Given the description of an element on the screen output the (x, y) to click on. 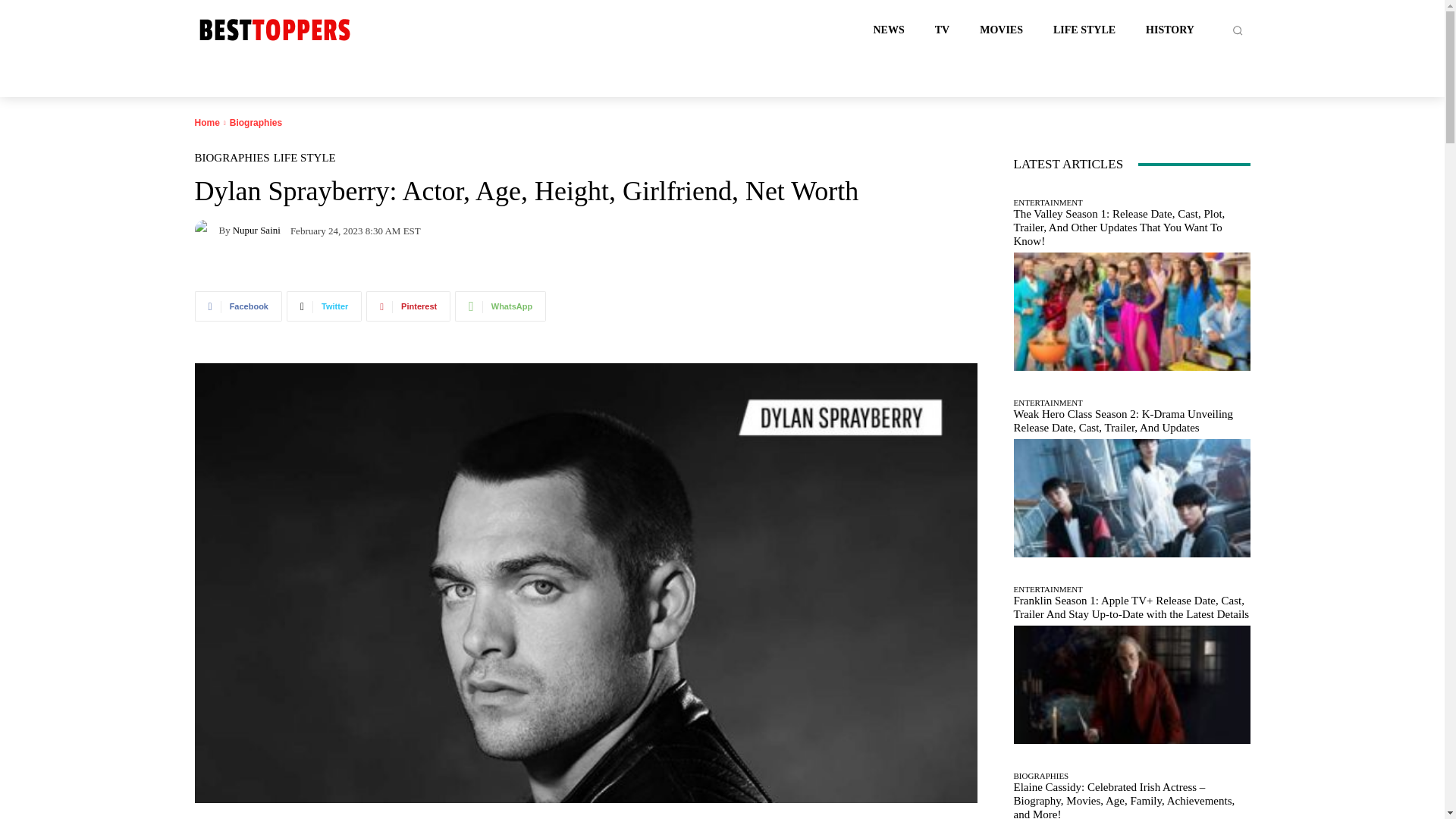
Biographies (256, 122)
Home (206, 122)
LIFE STYLE (304, 157)
BIOGRAPHIES (231, 157)
LIFE STYLE (1083, 30)
